Given the description of an element on the screen output the (x, y) to click on. 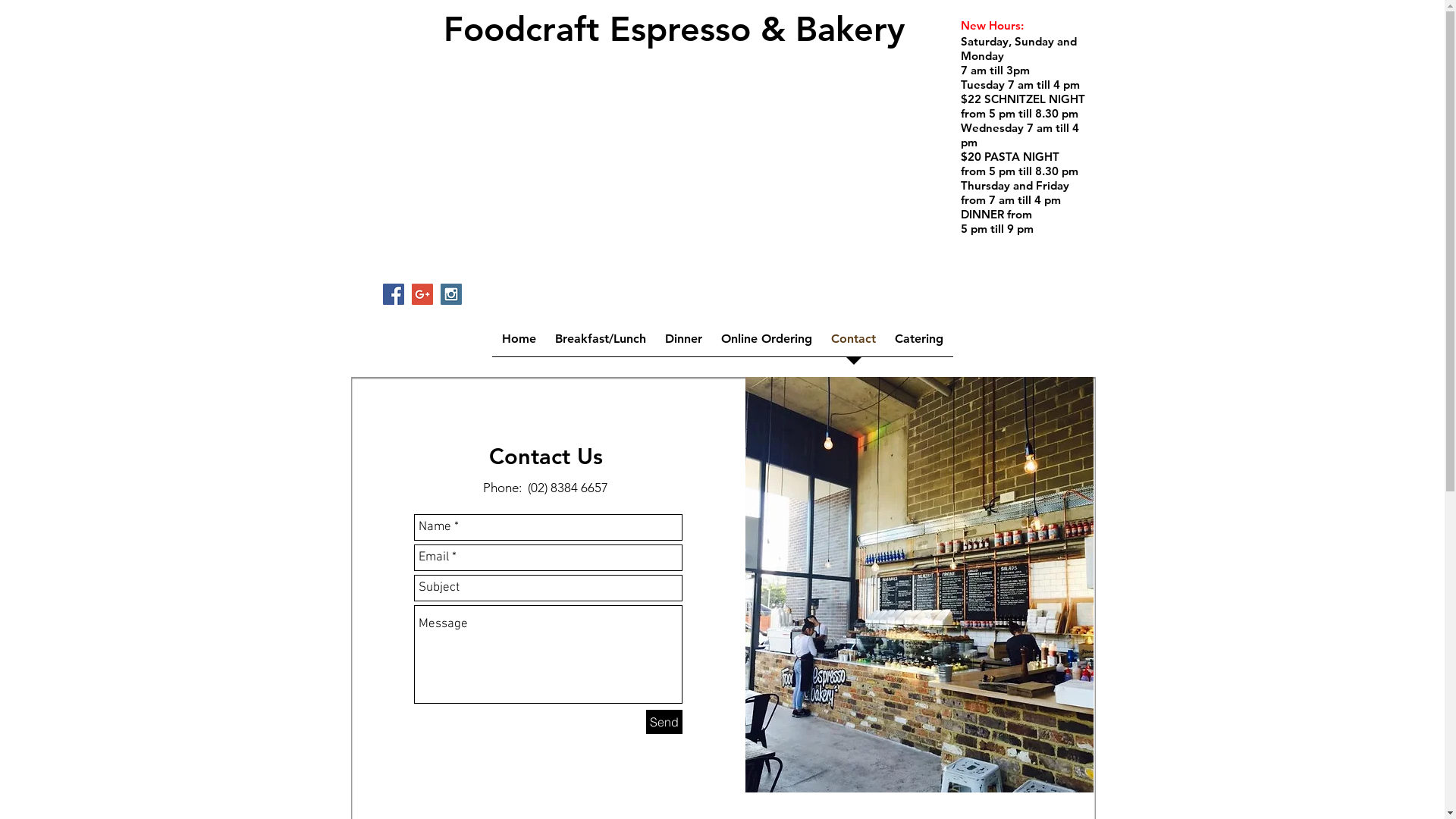
Breakfast/Lunch Element type: text (600, 343)
Home Element type: text (518, 343)
Catering Element type: text (919, 343)
Send Element type: text (664, 721)
Contact Element type: text (853, 343)
Online Ordering Element type: text (766, 343)
Dinner Element type: text (683, 343)
